Given the description of an element on the screen output the (x, y) to click on. 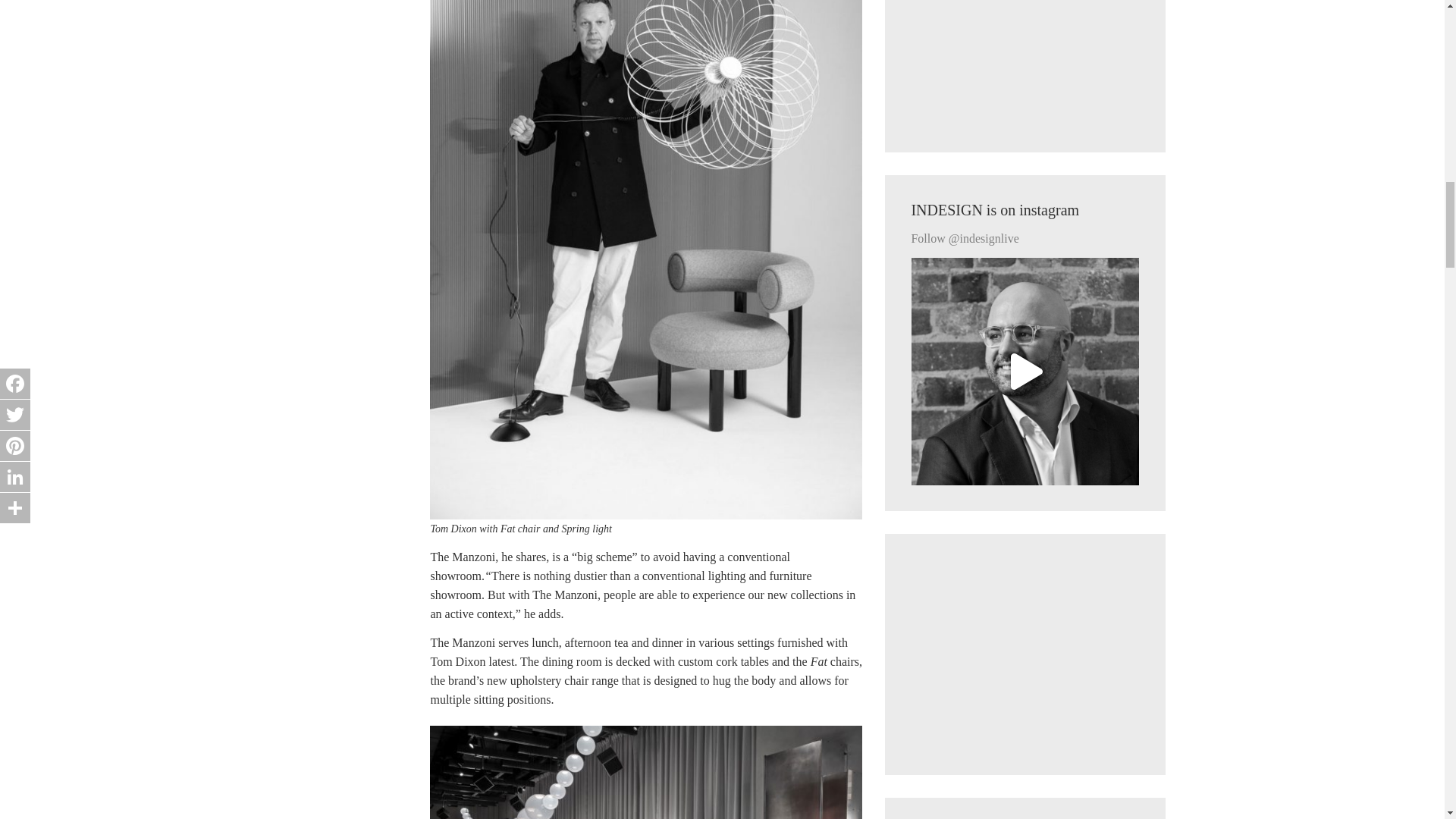
3rd party ad content (1024, 63)
